Given the description of an element on the screen output the (x, y) to click on. 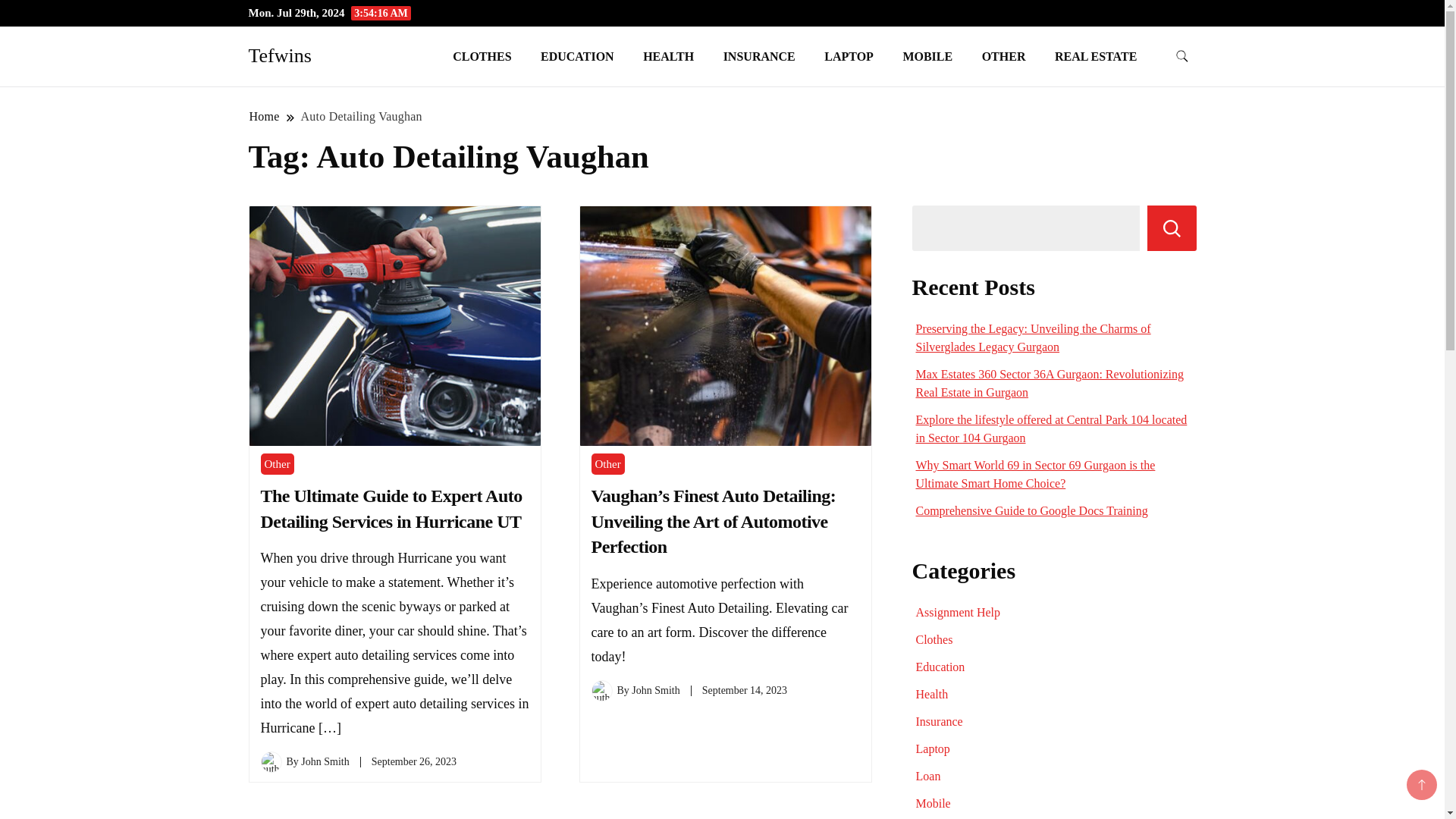
Other (277, 464)
September 14, 2023 (744, 690)
HEALTH (668, 56)
Home (264, 115)
CLOTHES (481, 56)
John Smith (655, 690)
INSURANCE (759, 56)
REAL ESTATE (1096, 56)
LAPTOP (848, 56)
Other (607, 464)
EDUCATION (577, 56)
